Given the description of an element on the screen output the (x, y) to click on. 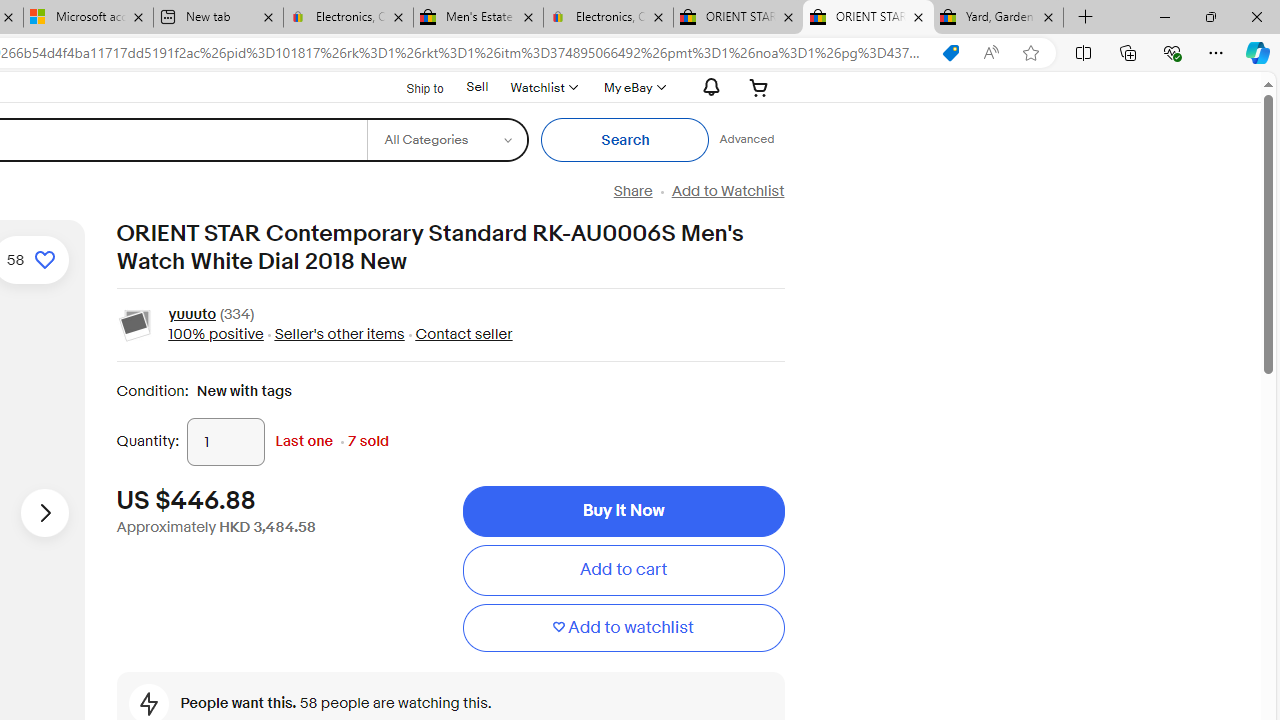
Quantity: (226, 442)
Ship to (412, 88)
Contact seller (463, 334)
yuuuto (191, 315)
Select a category for search (447, 139)
Ship to (412, 85)
Your shopping cart (759, 87)
